Given the description of an element on the screen output the (x, y) to click on. 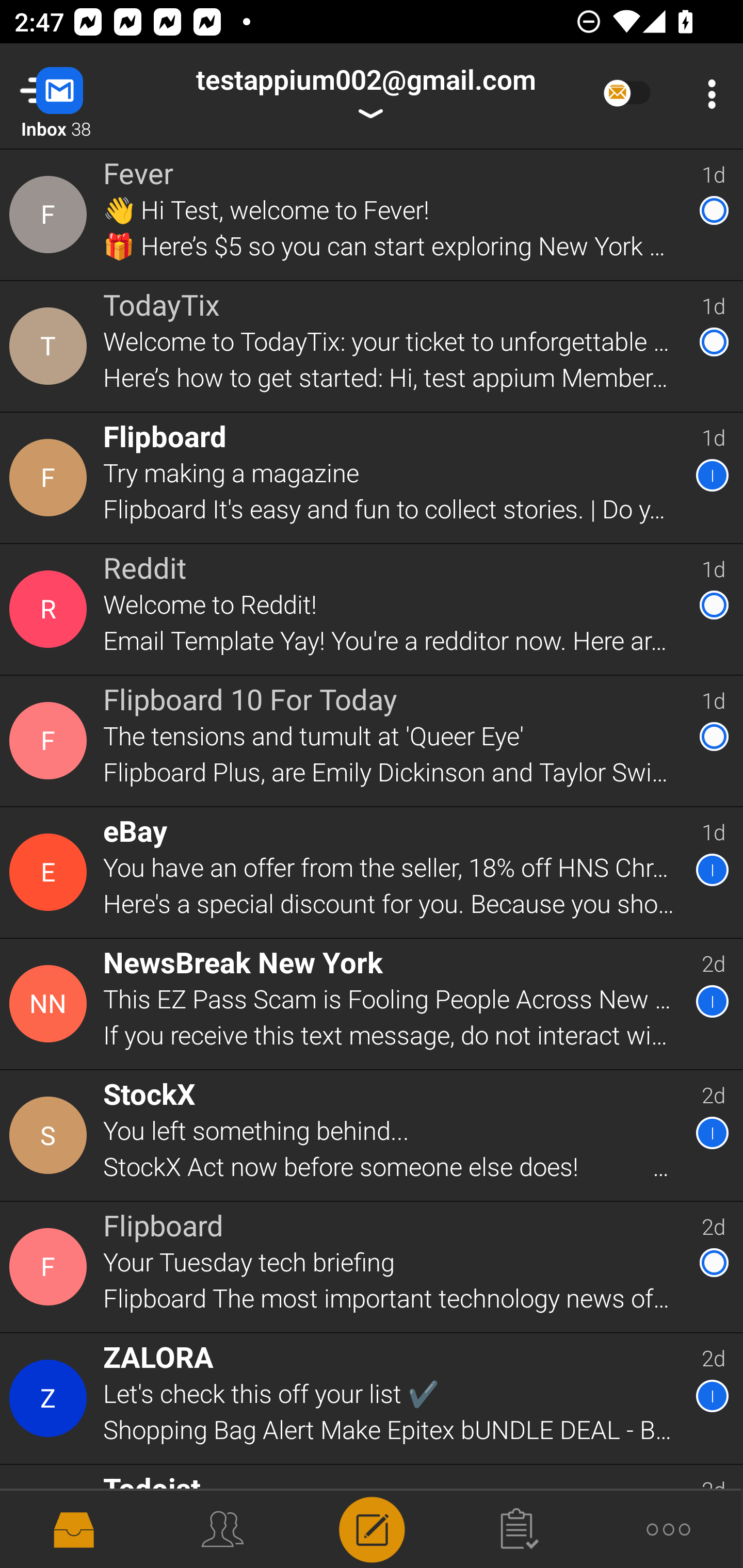
Navigate up (81, 93)
testappium002@gmail.com (365, 93)
More Options (706, 93)
Contact Details (50, 214)
Contact Details (50, 345)
Contact Details (50, 477)
Contact Details (50, 609)
Contact Details (50, 740)
Contact Details (50, 872)
Contact Details (50, 1004)
Contact Details (50, 1135)
Contact Details (50, 1266)
Contact Details (50, 1398)
Compose (371, 1528)
